Given the description of an element on the screen output the (x, y) to click on. 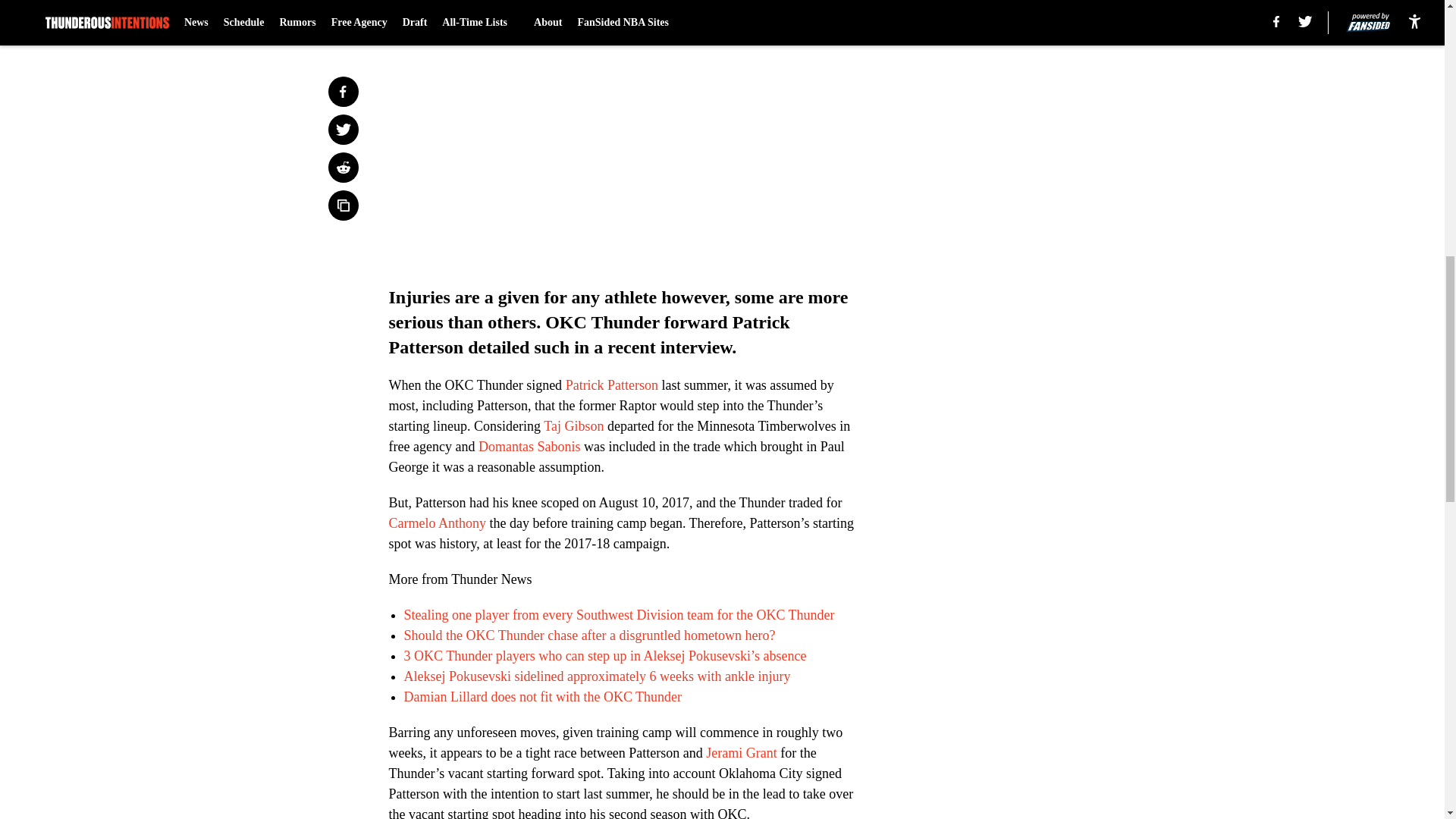
Domantas Sabonis (526, 446)
Damian Lillard does not fit with the OKC Thunder (542, 696)
Taj Gibson (573, 426)
Carmelo Anthony (437, 522)
Patrick Patterson (612, 385)
Jerami Grant (741, 752)
